Given the description of an element on the screen output the (x, y) to click on. 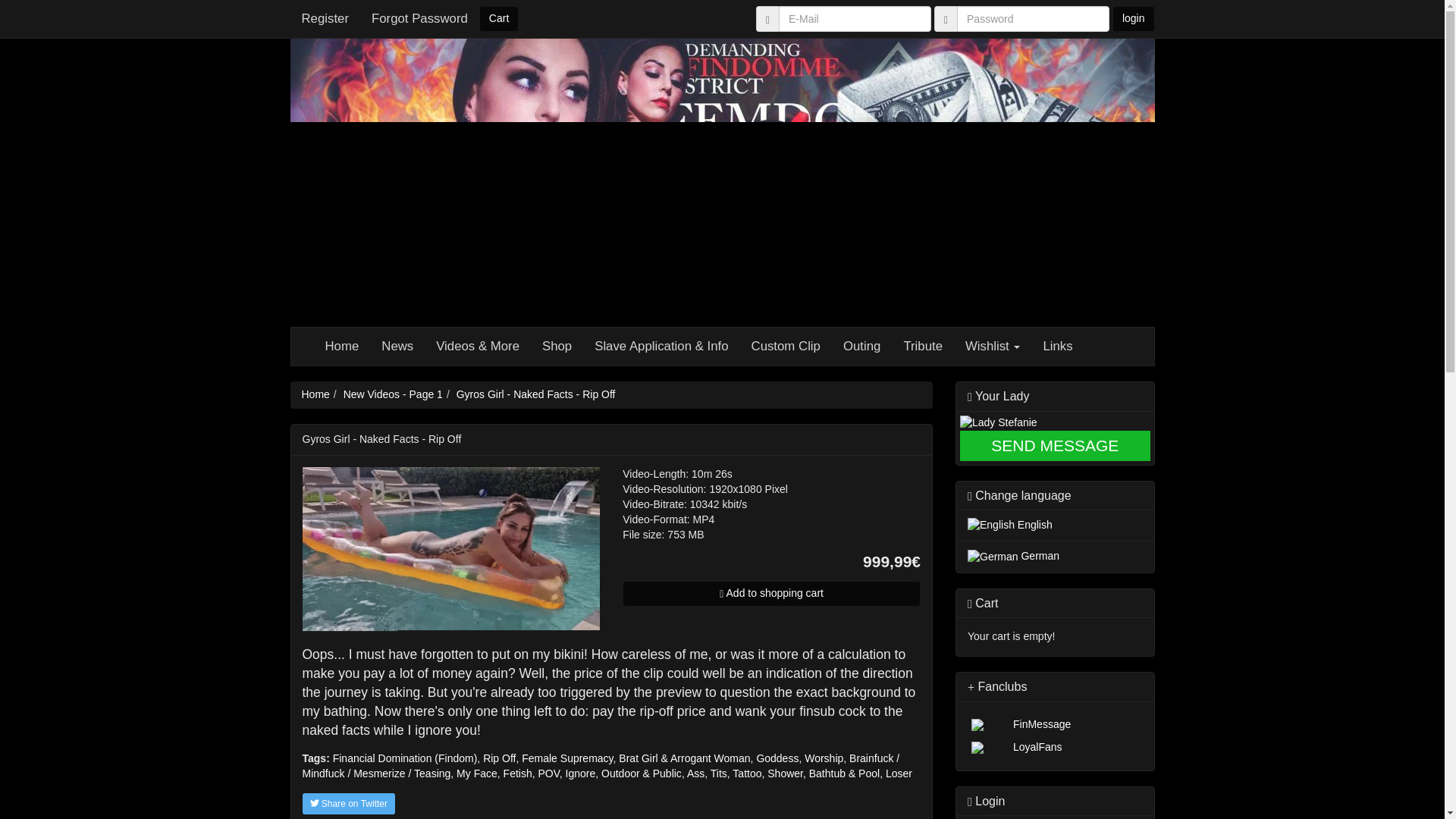
Tribute (922, 346)
News (397, 346)
Forgot Password (419, 18)
Home (342, 346)
Custom Clip (785, 346)
Tattoo (746, 773)
Add to shopping cart (771, 593)
Female Supremacy (566, 758)
Register (324, 18)
Outing (861, 346)
Cart (498, 18)
Goddess (776, 758)
Tits (718, 773)
Shop (557, 346)
New Videos - Page 1 (392, 394)
